Given the description of an element on the screen output the (x, y) to click on. 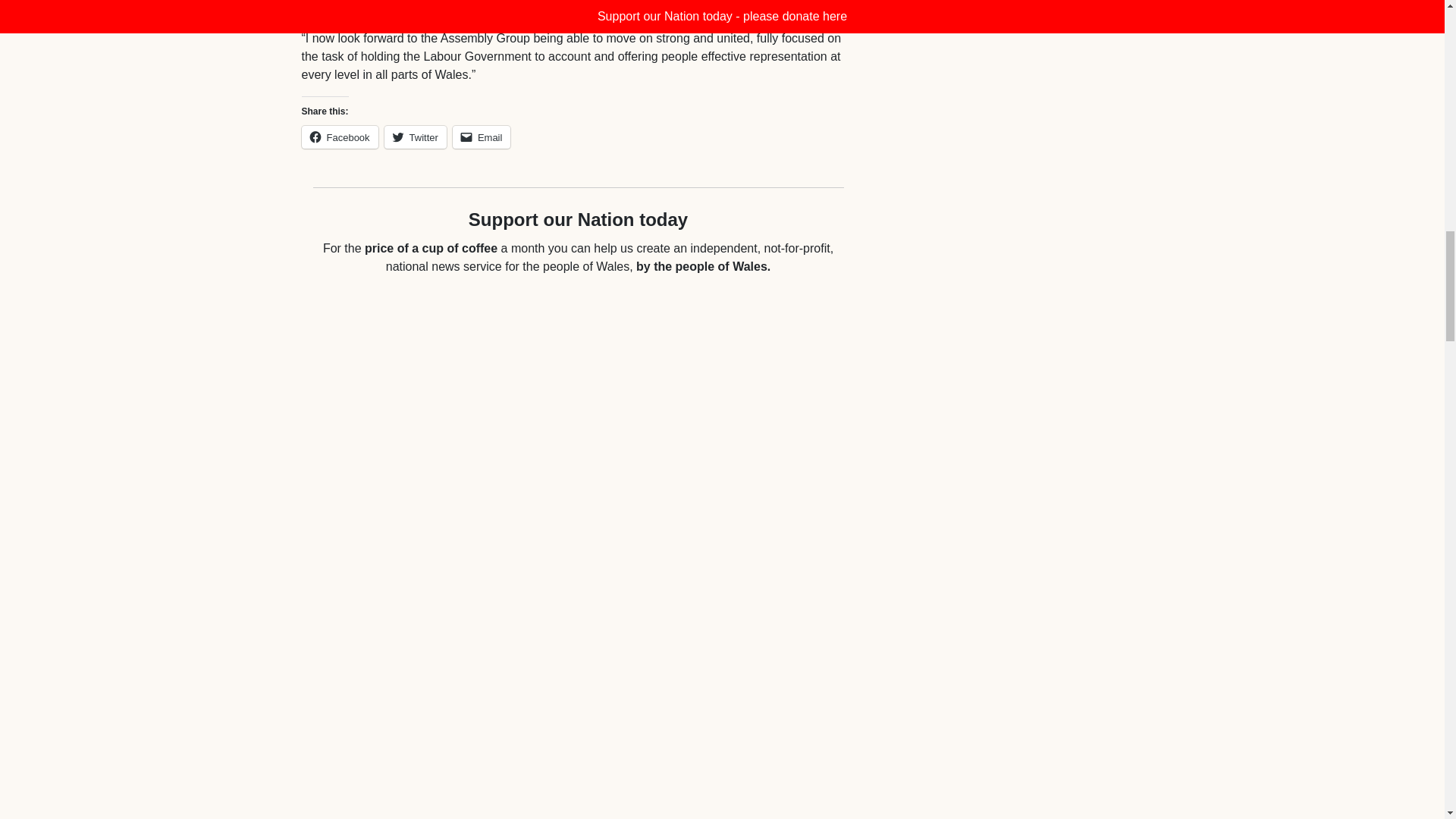
Twitter (415, 137)
Click to share on Twitter (415, 137)
Click to share on Facebook (339, 137)
Facebook (339, 137)
Click to email a link to a friend (481, 137)
Email (481, 137)
